Given the description of an element on the screen output the (x, y) to click on. 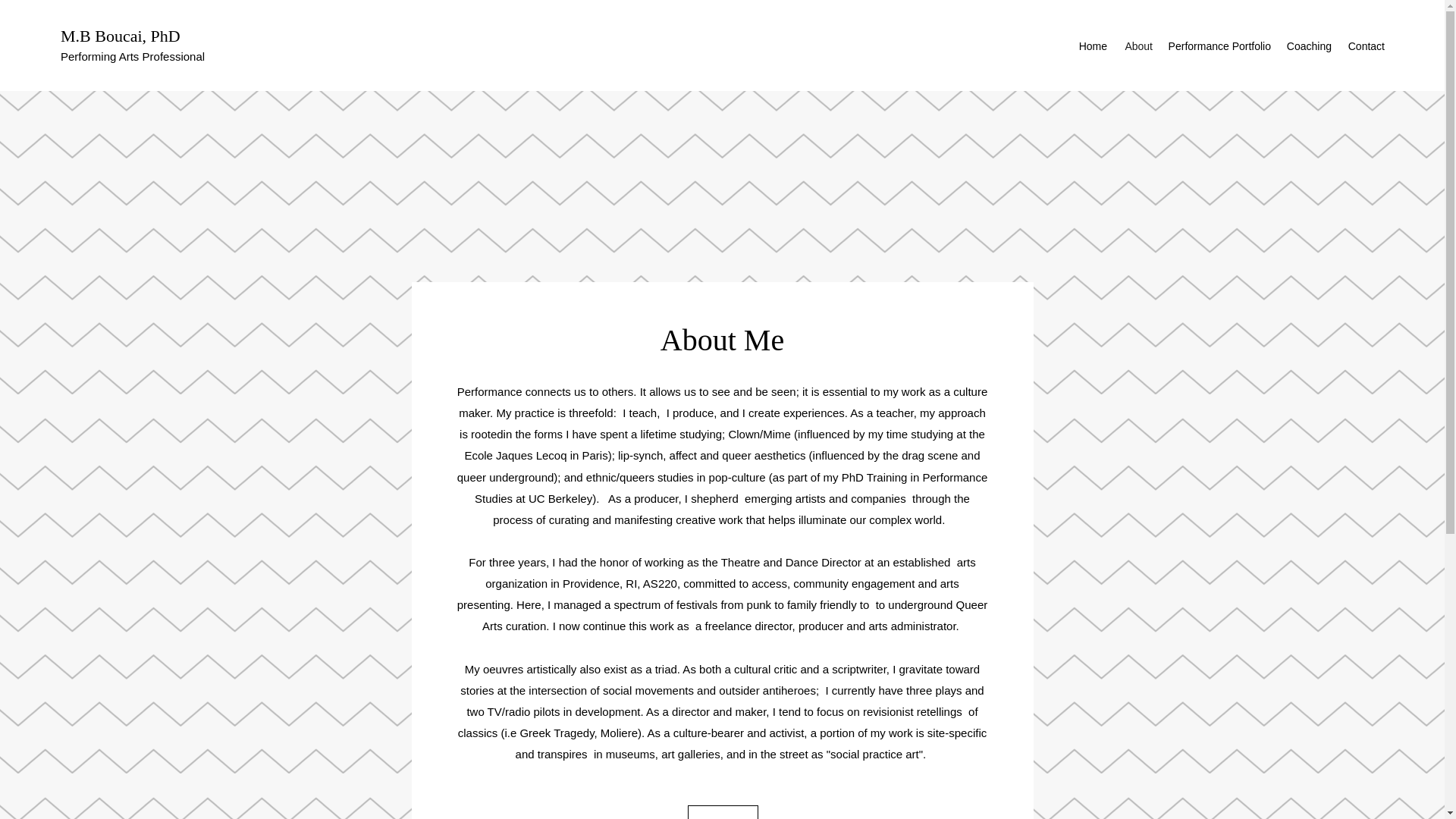
About (1137, 46)
Home (1092, 46)
Performance Portfolio (1219, 46)
M.B Boucai, PhD (120, 35)
Coaching (1308, 46)
Contact (1365, 46)
